Given the description of an element on the screen output the (x, y) to click on. 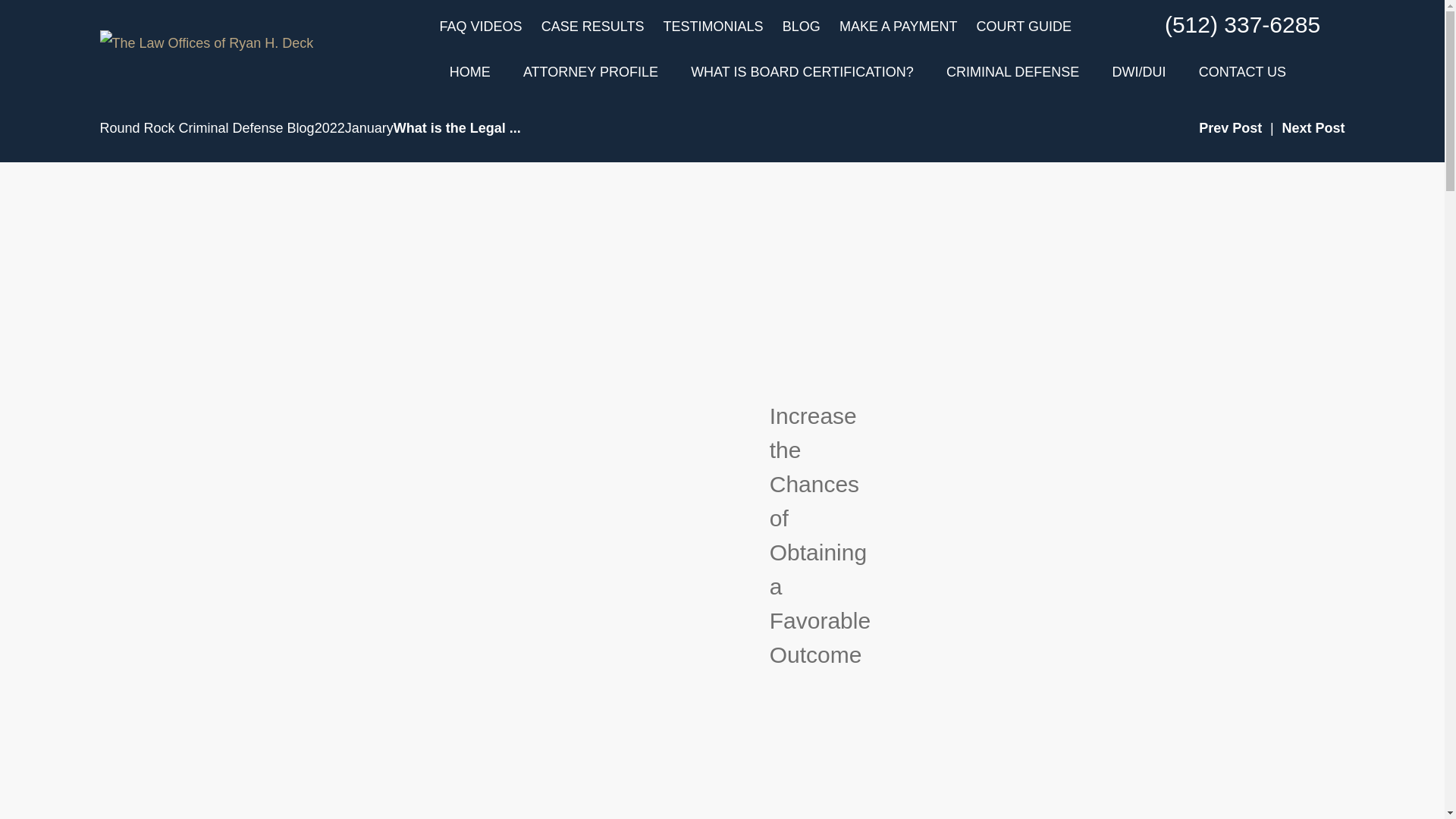
BLOG (802, 26)
WHAT IS BOARD CERTIFICATION? (802, 72)
ATTORNEY PROFILE (590, 72)
MAKE A PAYMENT (898, 26)
CRIMINAL DEFENSE (1012, 72)
Open the accessibility options menu (20, 798)
CASE RESULTS (593, 26)
The Law Offices of Ryan H. Deck (207, 43)
TESTIMONIALS (712, 26)
HOME (469, 72)
